Given the description of an element on the screen output the (x, y) to click on. 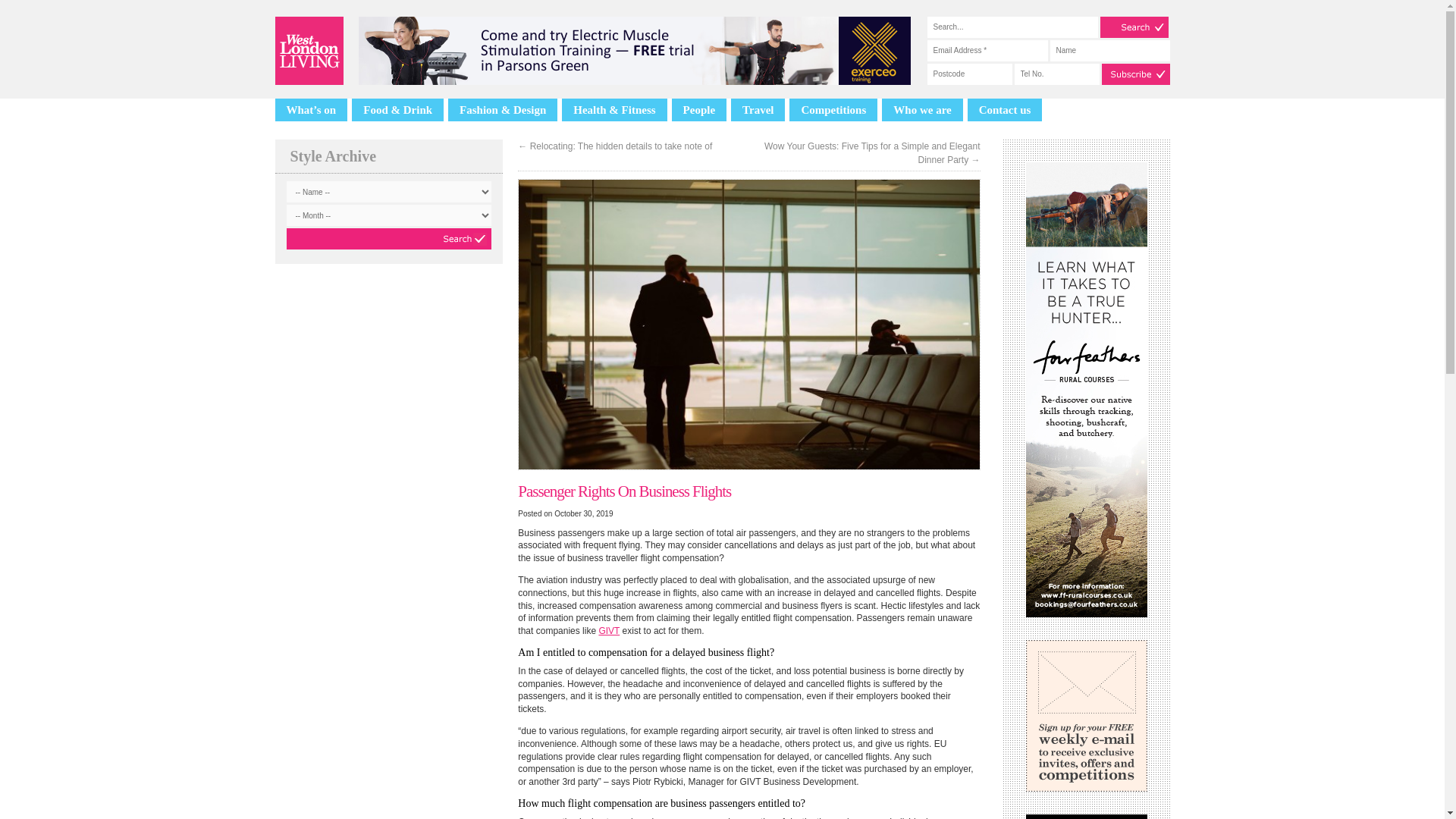
Go (389, 238)
West London Living (308, 50)
Search (1133, 26)
Postcode (968, 74)
Subscribe (1134, 74)
Name (1109, 50)
Search (1133, 26)
Subscribe (1134, 74)
Tel No. (1056, 74)
